Given the description of an element on the screen output the (x, y) to click on. 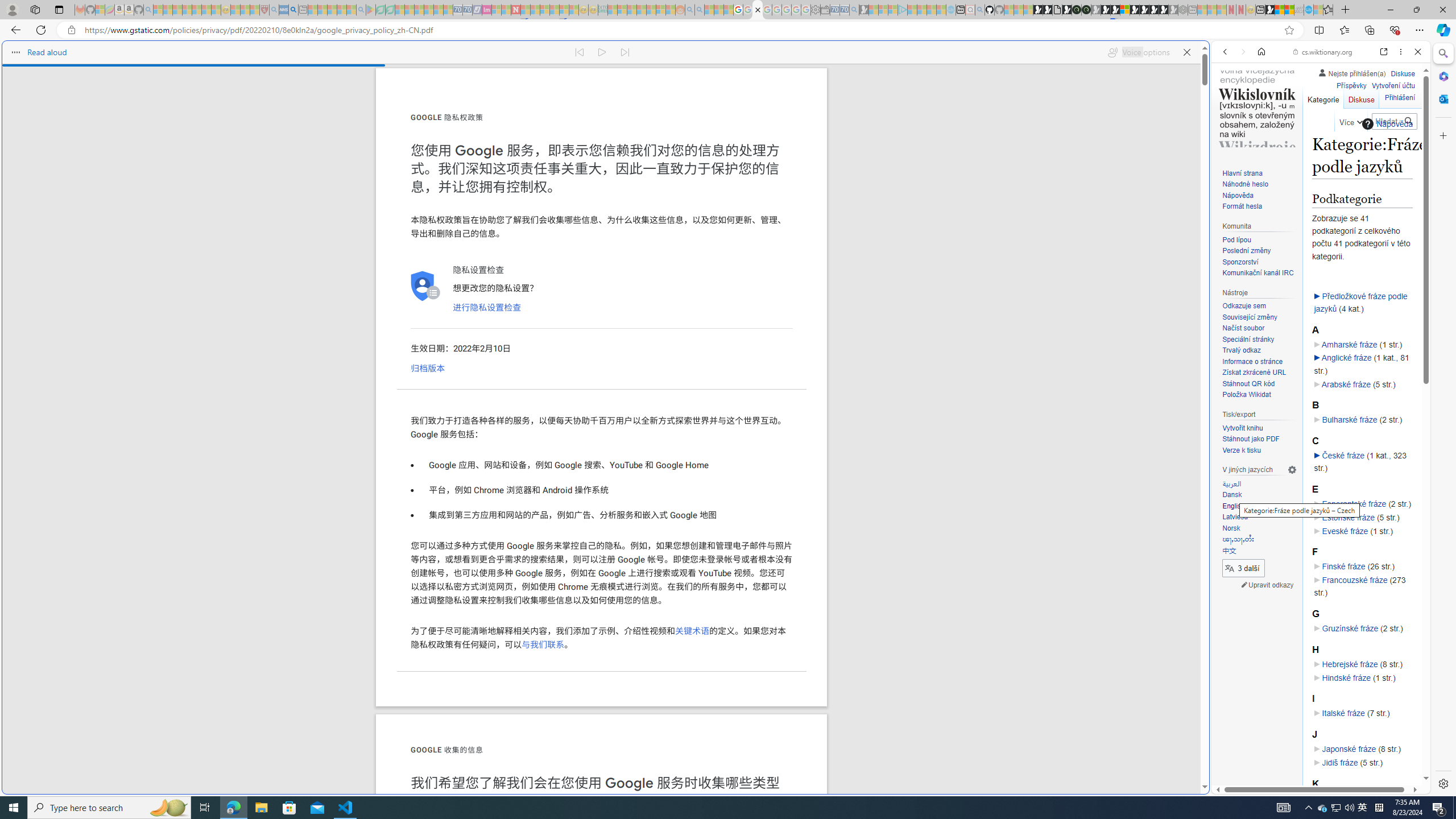
DITOGAMES AG Imprint - Sleeping (602, 9)
rozbalit (1316, 455)
Bing Real Estate - Home sales and rental listings - Sleeping (853, 9)
Open link in new tab (1383, 51)
